Given the description of an element on the screen output the (x, y) to click on. 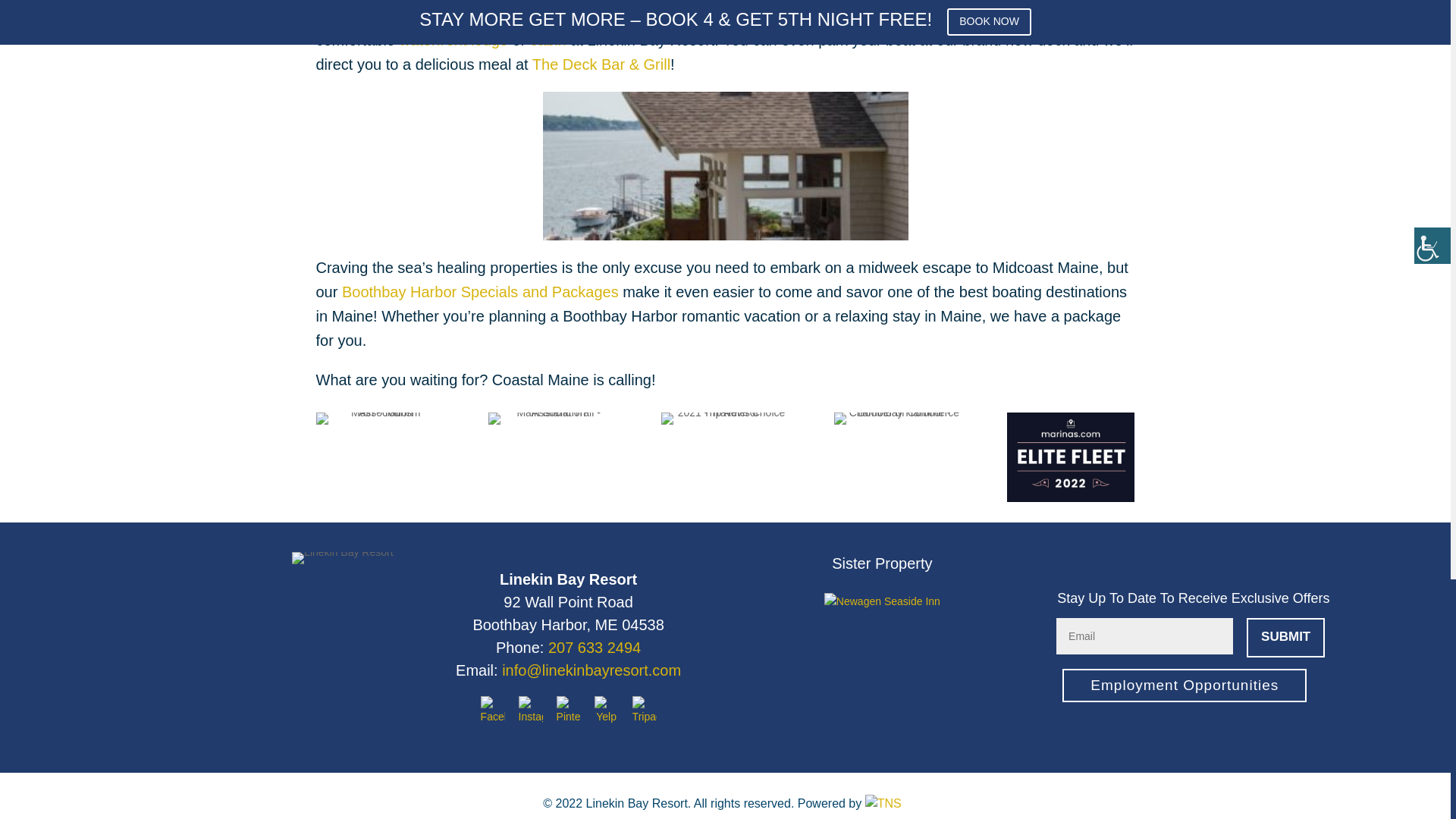
logo3 (725, 418)
logo4 (897, 418)
logo2 (551, 418)
logo1 (379, 418)
EF22 (1070, 457)
waterfront lodge (453, 39)
